Given the description of an element on the screen output the (x, y) to click on. 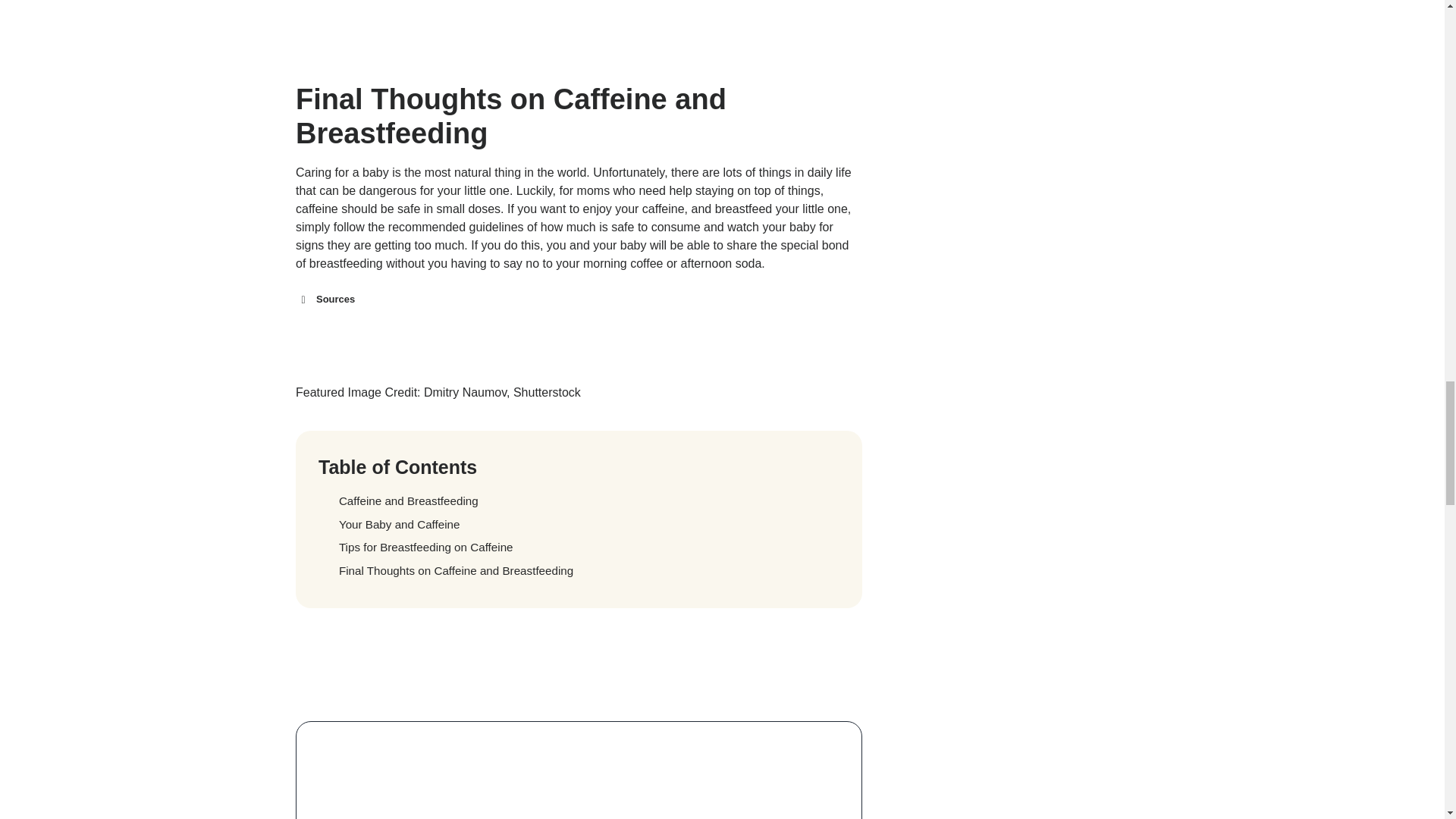
Caffeine and Breastfeeding (579, 501)
Final Thoughts on Caffeine and Breastfeeding (579, 570)
Your Baby and Caffeine (579, 524)
Tips for Breastfeeding on Caffeine (579, 547)
divider (578, 659)
